Given the description of an element on the screen output the (x, y) to click on. 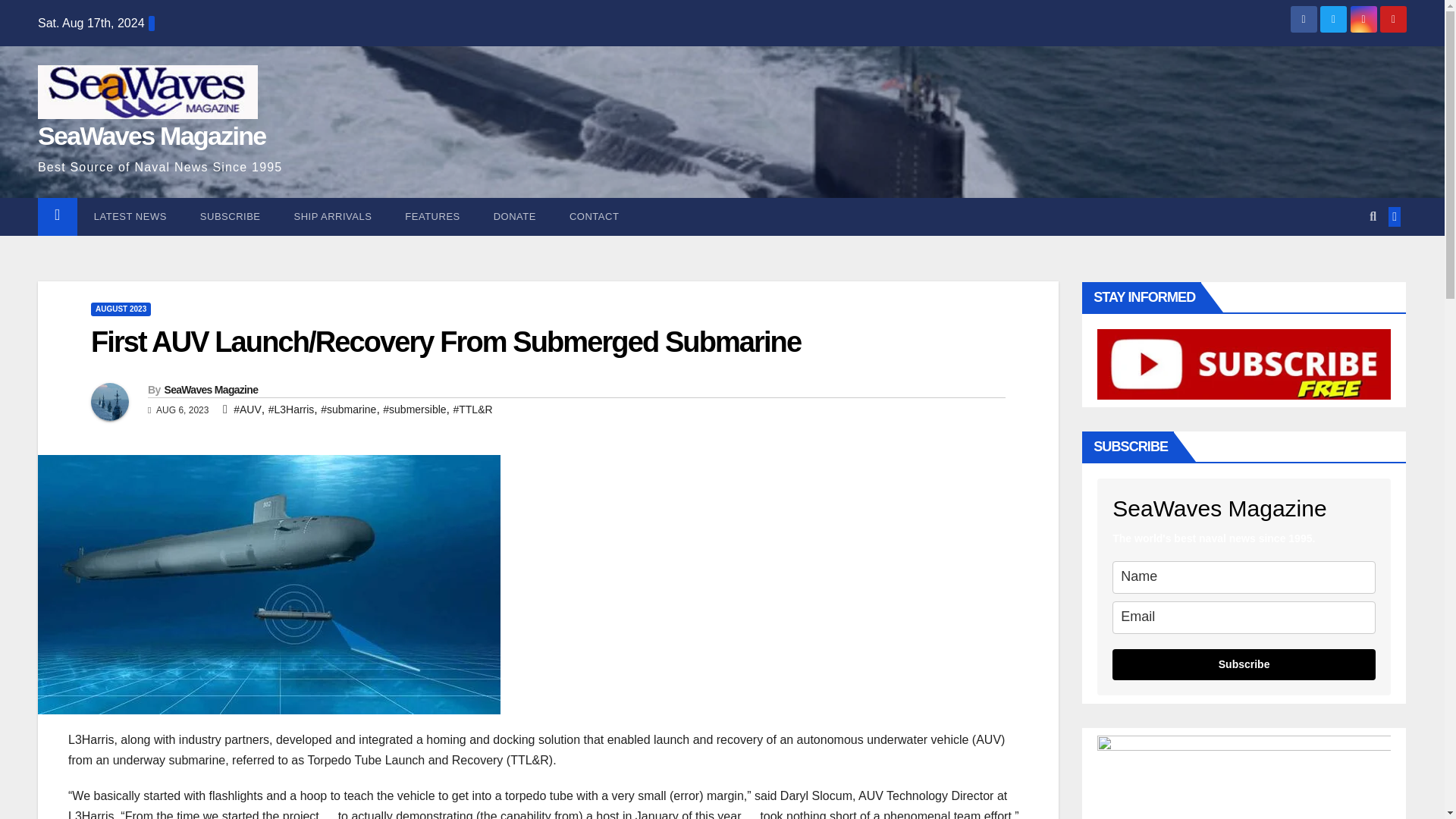
SeaWaves Magazine (151, 135)
Subscribe (230, 216)
LATEST NEWS (130, 216)
Latest News (130, 216)
SUBSCRIBE (230, 216)
Ship Arrivals (333, 216)
Features (432, 216)
FEATURES (432, 216)
SHIP ARRIVALS (333, 216)
